Given the description of an element on the screen output the (x, y) to click on. 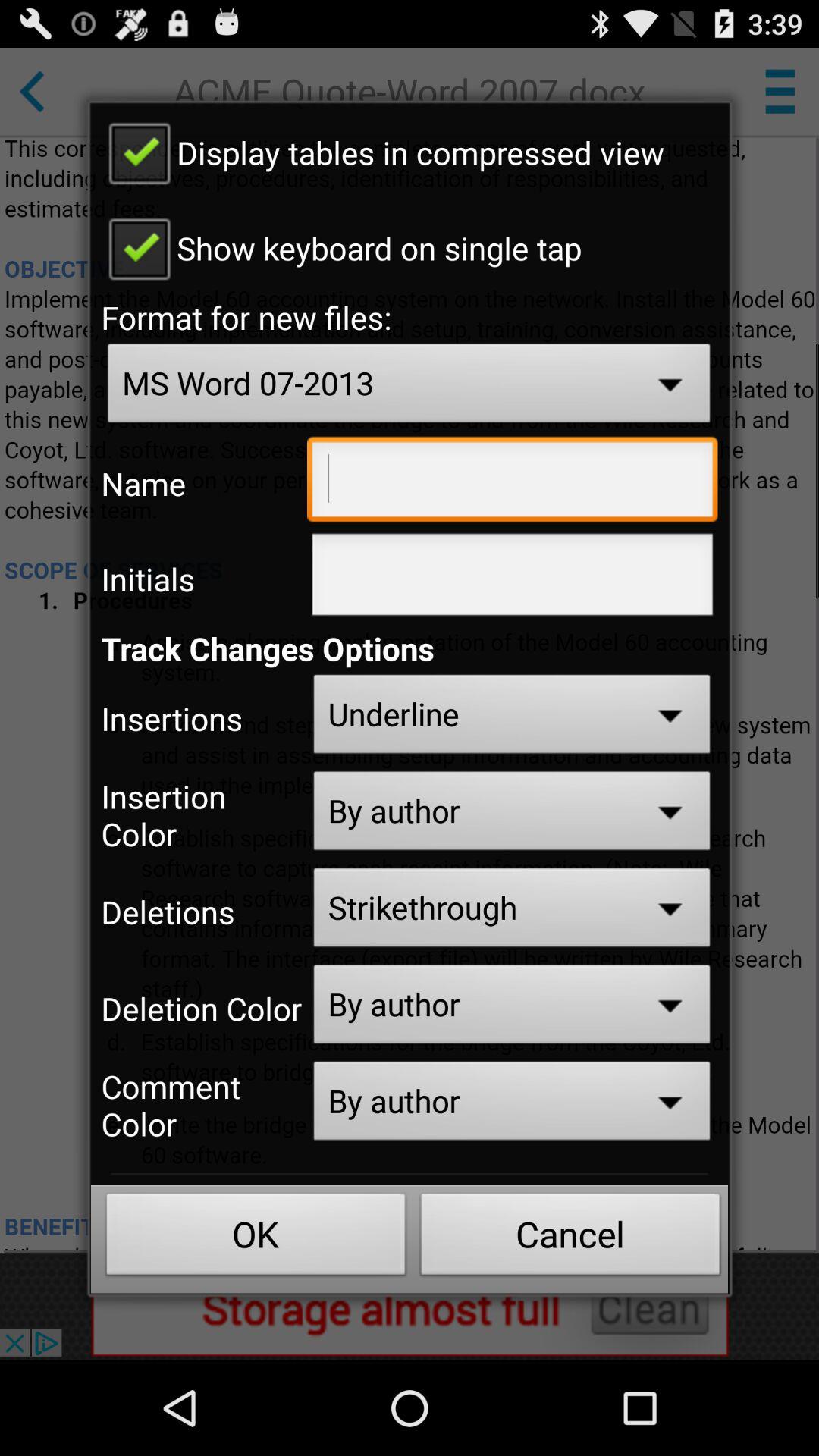
enter the name box (512, 483)
